Given the description of an element on the screen output the (x, y) to click on. 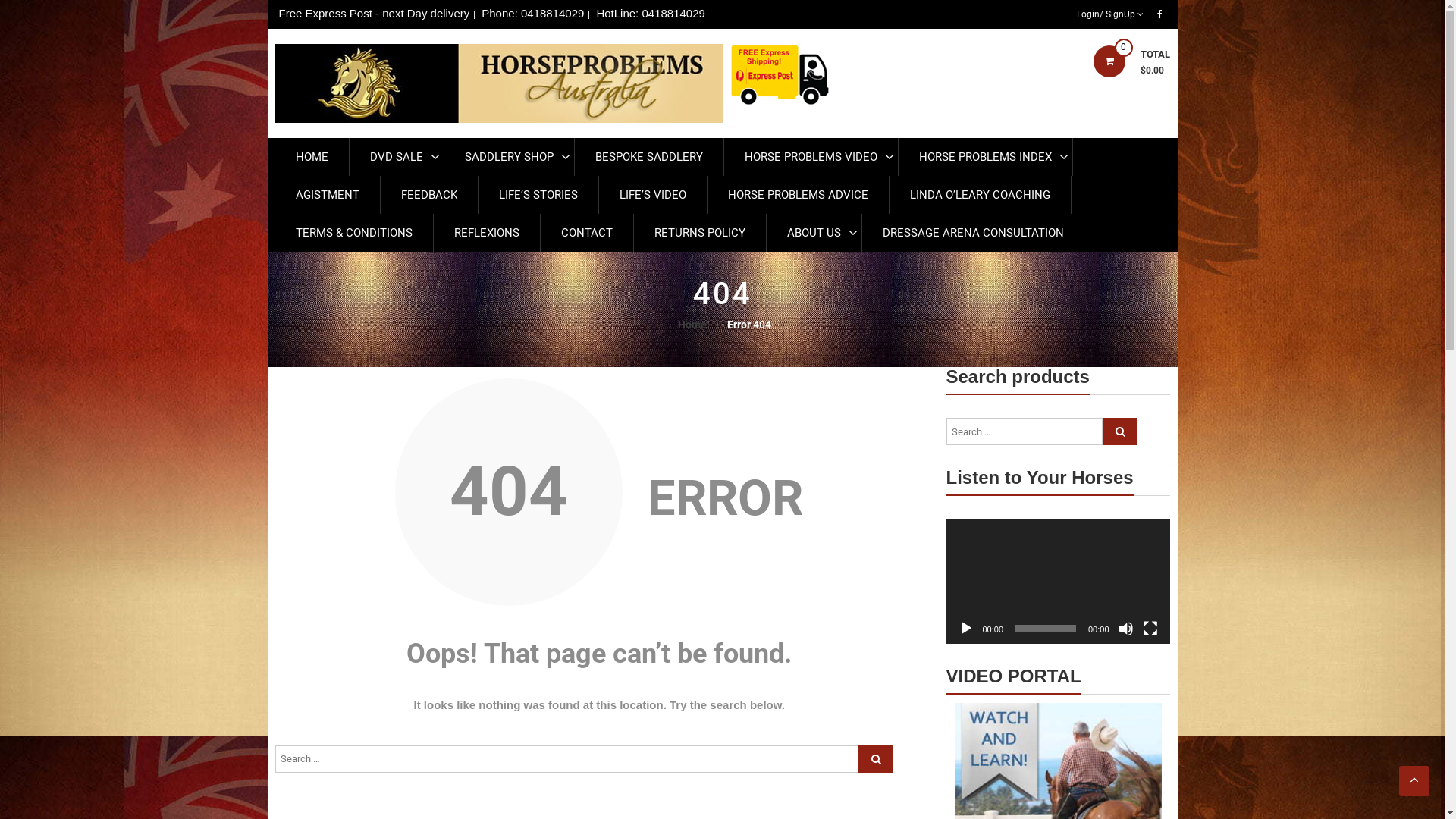
0 Element type: text (1109, 61)
Search Element type: text (1119, 431)
HORSE PROBLEMS VIDEO Element type: text (810, 156)
RETURNS POLICY Element type: text (699, 232)
Search Element type: text (875, 758)
BESPOKE SADDLERY Element type: text (648, 156)
TERMS & CONDITIONS Element type: text (353, 232)
SADDLERY SHOP Element type: text (509, 156)
Login/ SignUp Element type: text (1109, 14)
Play Element type: hover (965, 628)
Fullscreen Element type: hover (1149, 628)
Mute Element type: hover (1124, 628)
HOME Element type: text (311, 156)
FEEDBACK Element type: text (428, 194)
DRESSAGE ARENA CONSULTATION Element type: text (972, 232)
HORSE PROBLEMS ADVICE Element type: text (797, 194)
DVD SALE Element type: text (395, 156)
HORSE PROBLEMS INDEX Element type: text (984, 156)
Home Element type: text (691, 324)
REFLEXIONS Element type: text (486, 232)
CONTACT Element type: text (585, 232)
AGISTMENT Element type: text (326, 194)
ABOUT US Element type: text (812, 232)
